Given the description of an element on the screen output the (x, y) to click on. 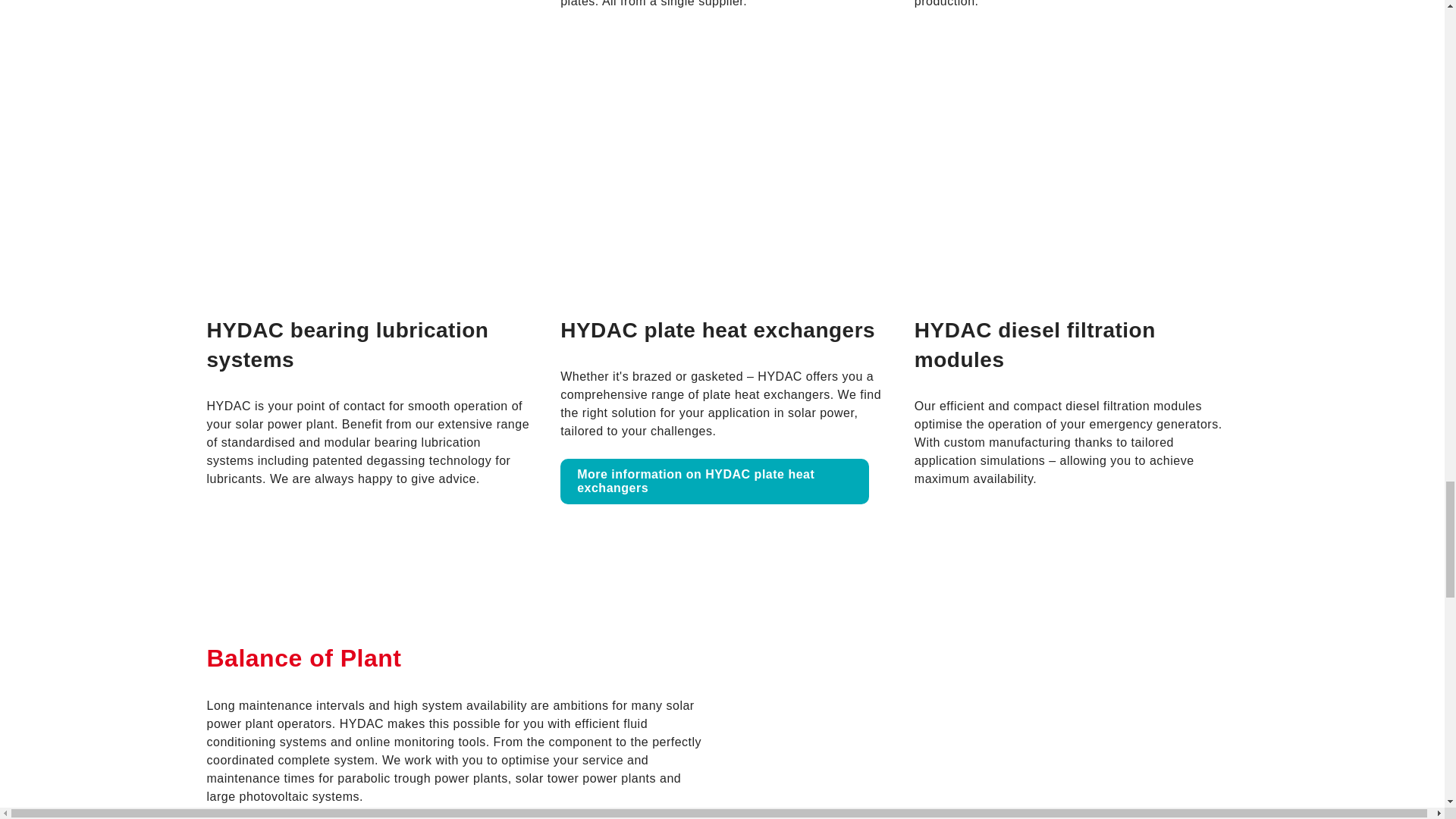
Fluid cooling (714, 481)
